Given the description of an element on the screen output the (x, y) to click on. 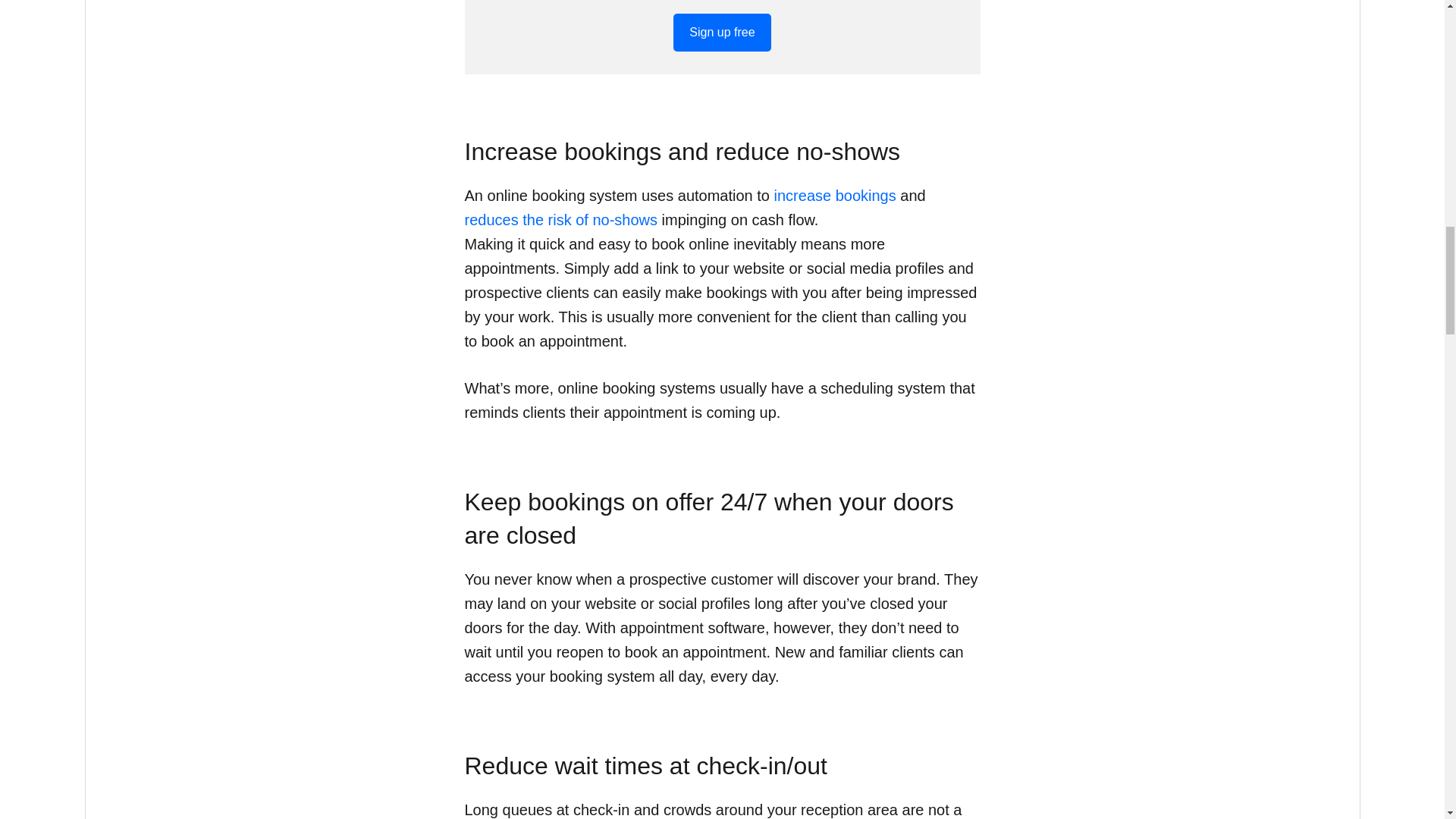
increase bookings (835, 195)
reduces the risk of no-shows (561, 219)
Sign up free (721, 32)
